Given the description of an element on the screen output the (x, y) to click on. 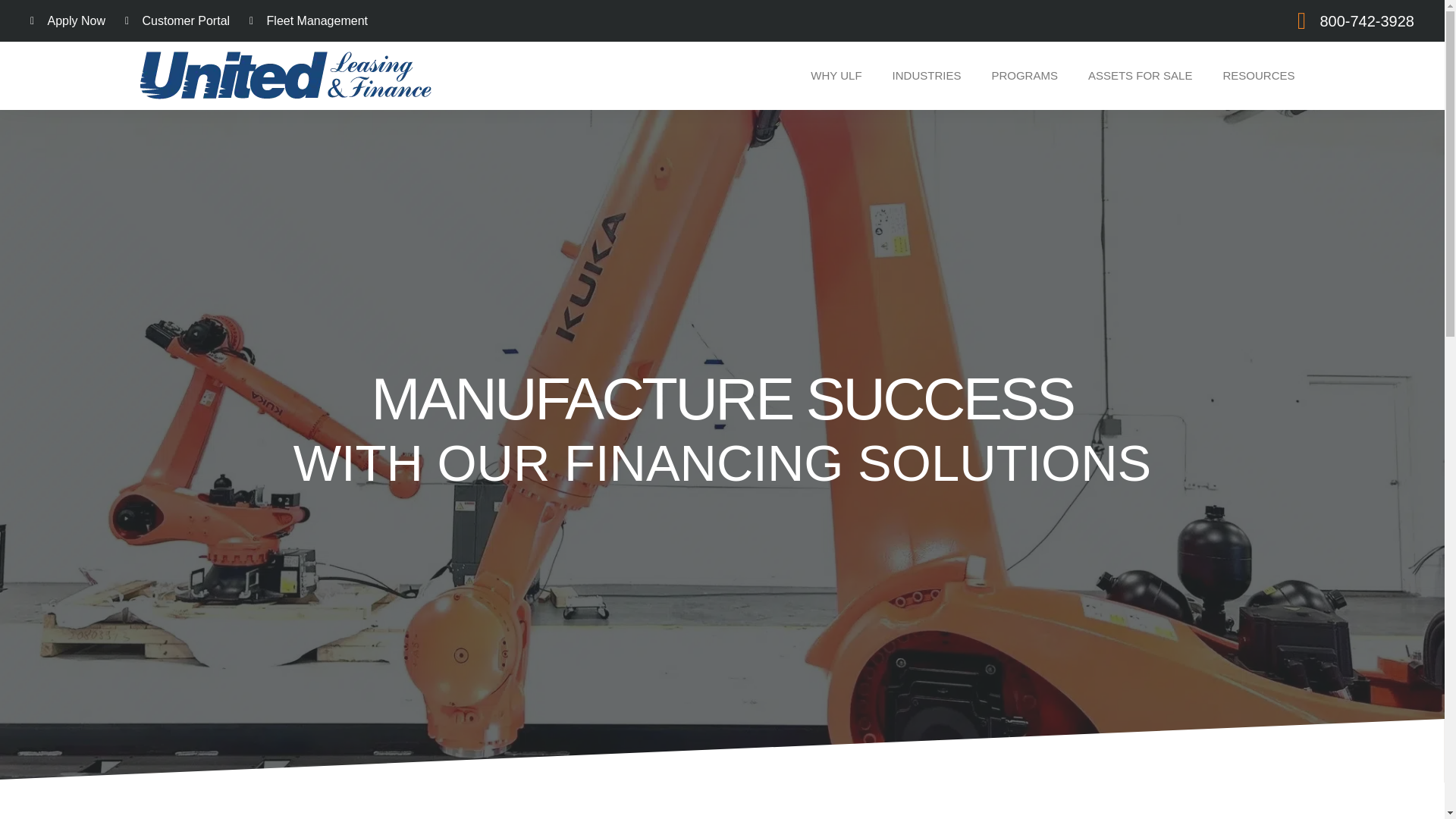
Apply Now (67, 21)
INDUSTRIES (926, 74)
hiltec usa logo (563, 804)
ASSETS FOR SALE (1140, 74)
800-742-3928 (1344, 20)
WHY ULF (835, 74)
RESOURCES (1257, 74)
PROGRAMS (1024, 74)
Fleet Management (308, 21)
Customer Portal (177, 21)
